Given the description of an element on the screen output the (x, y) to click on. 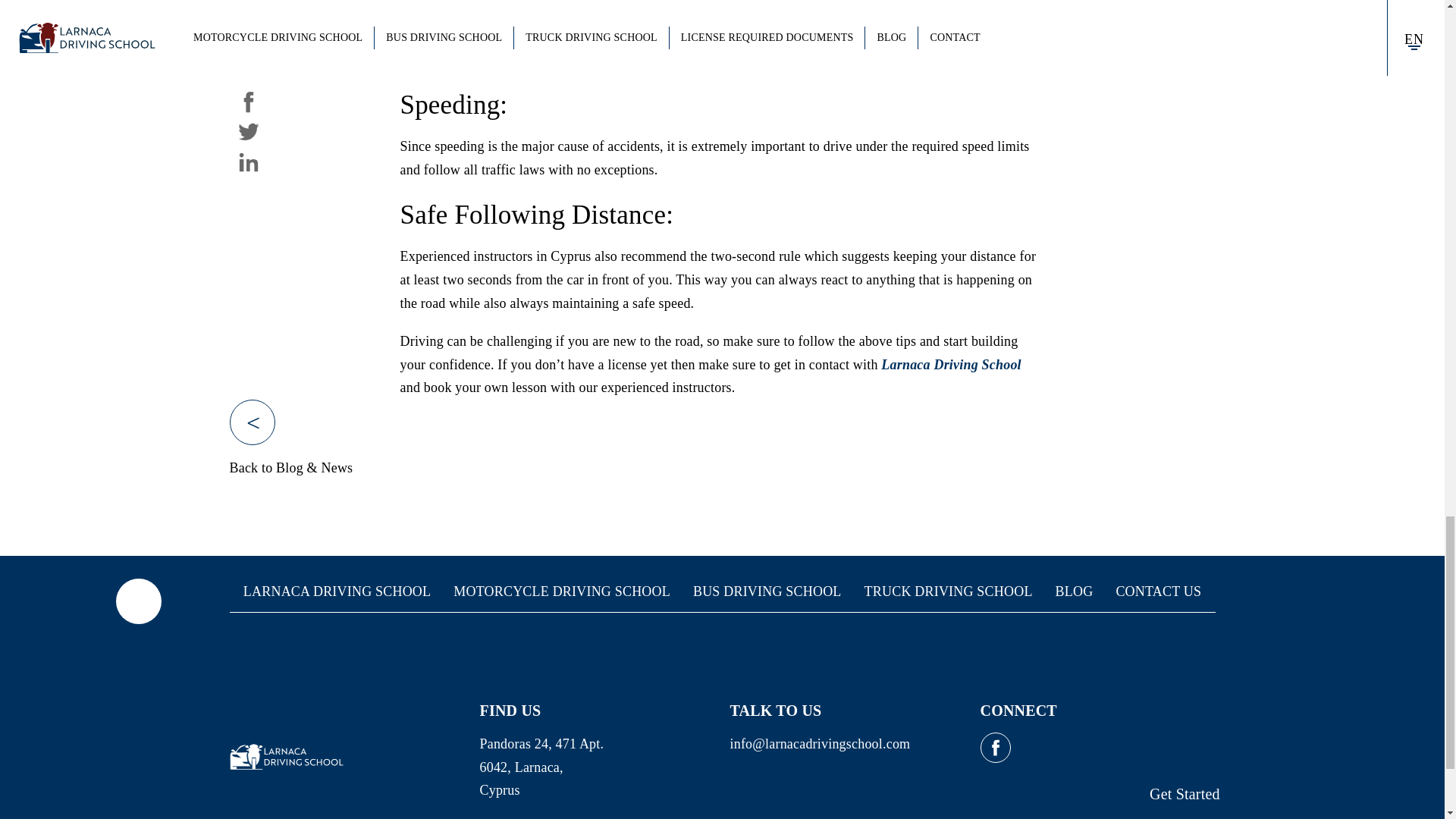
Scroll top (137, 601)
Larnaca Driving School (950, 364)
MOTORCYCLE DRIVING SCHOOL (560, 590)
BLOG (1074, 590)
TRUCK DRIVING SCHOOL (948, 590)
LARNACA DRIVING SCHOOL (336, 590)
CONTACT US (1158, 590)
BUS DRIVING SCHOOL (767, 590)
